Given the description of an element on the screen output the (x, y) to click on. 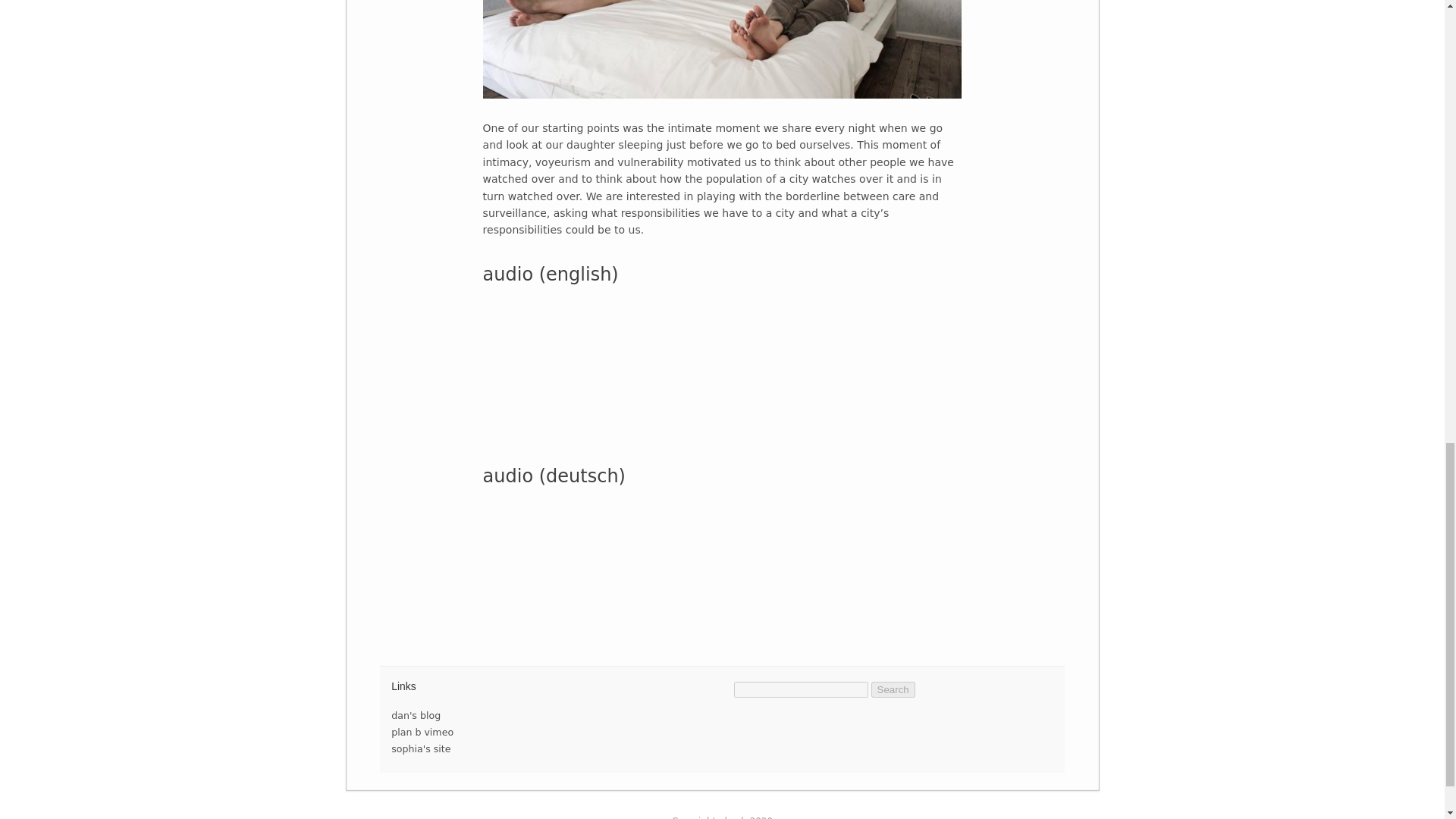
Search (892, 689)
